Given the description of an element on the screen output the (x, y) to click on. 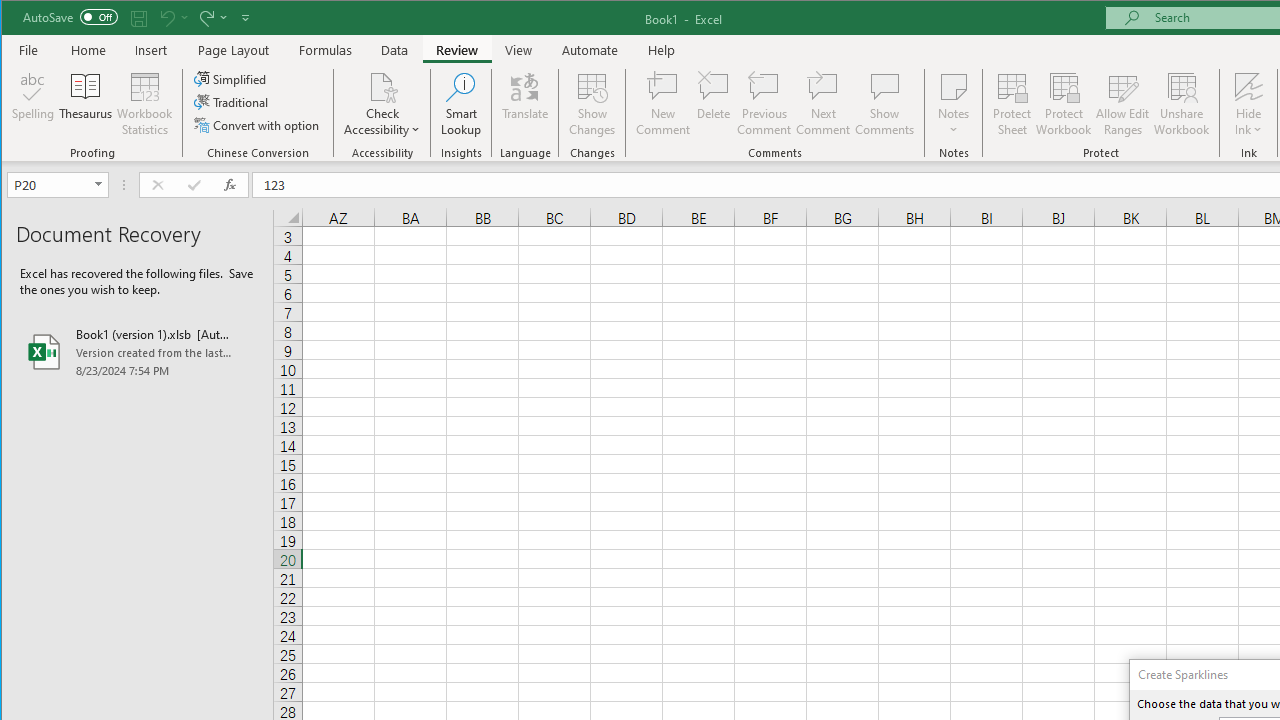
Protect Sheet... (1012, 104)
Translate (525, 104)
Delete (713, 104)
Show Changes (592, 104)
Traditional (232, 101)
